Given the description of an element on the screen output the (x, y) to click on. 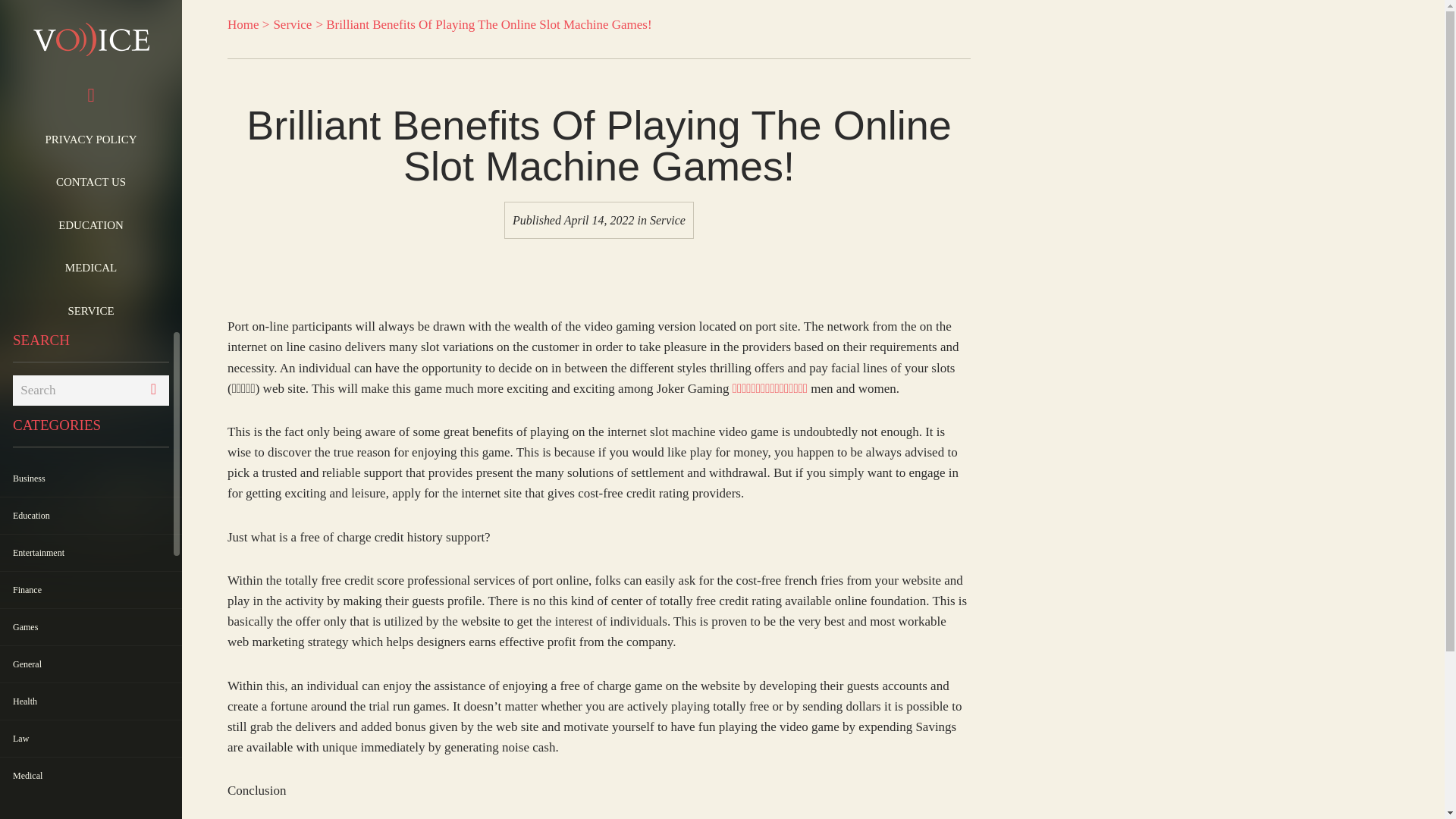
SERVICE (91, 310)
CONTACT US (91, 181)
Health (25, 701)
Real-Estate (34, 812)
EDUCATION (91, 224)
General (27, 664)
Service (667, 219)
Business (29, 478)
Service (292, 24)
PRIVACY POLICY (91, 138)
Entertainment (38, 552)
Law (21, 738)
Medical (27, 775)
Finance (27, 589)
Games (25, 626)
